Given the description of an element on the screen output the (x, y) to click on. 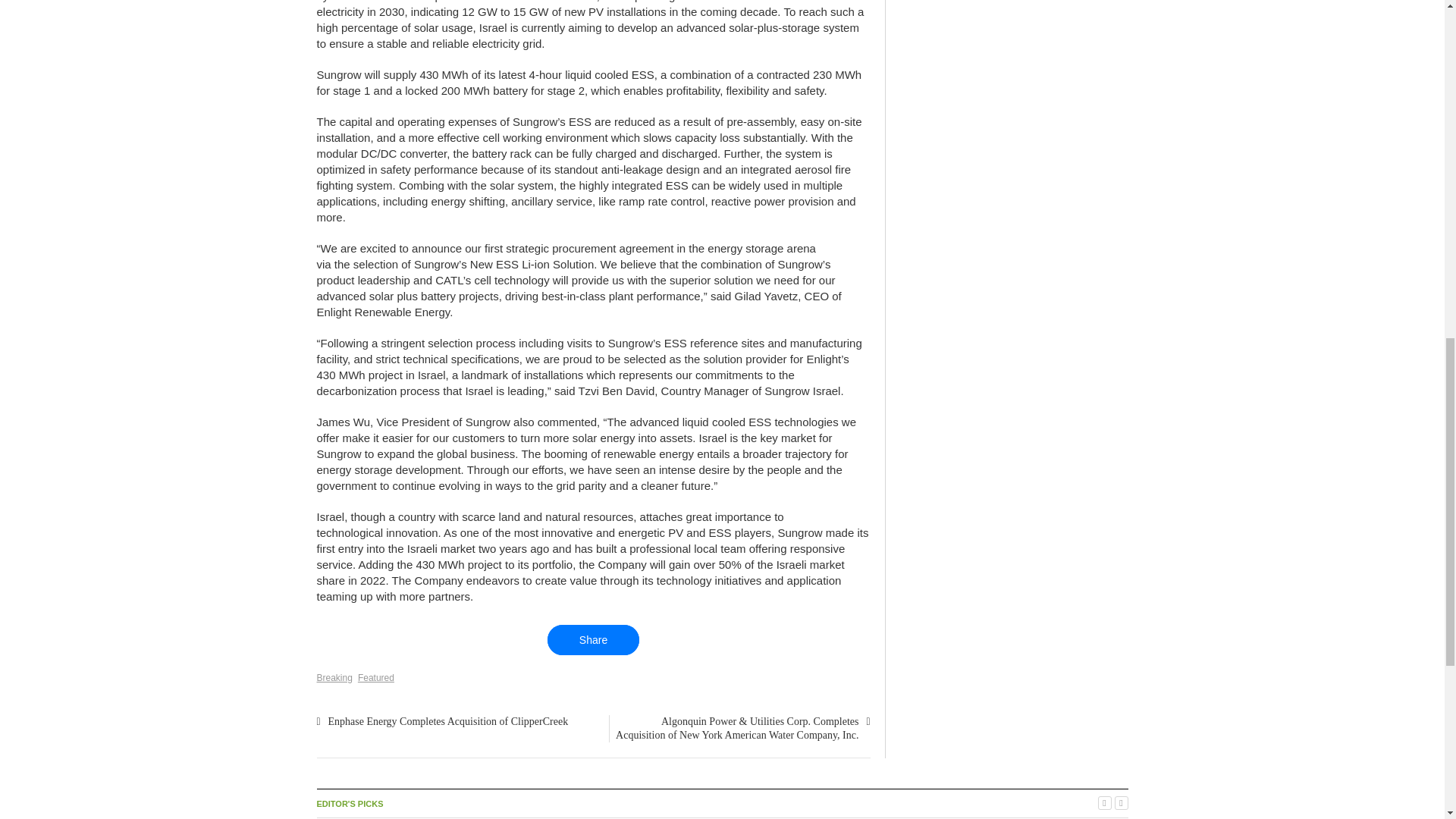
Share (593, 639)
Featured (376, 677)
Breaking (334, 677)
Enphase Energy Completes Acquisition of ClipperCreek (447, 721)
